Given the description of an element on the screen output the (x, y) to click on. 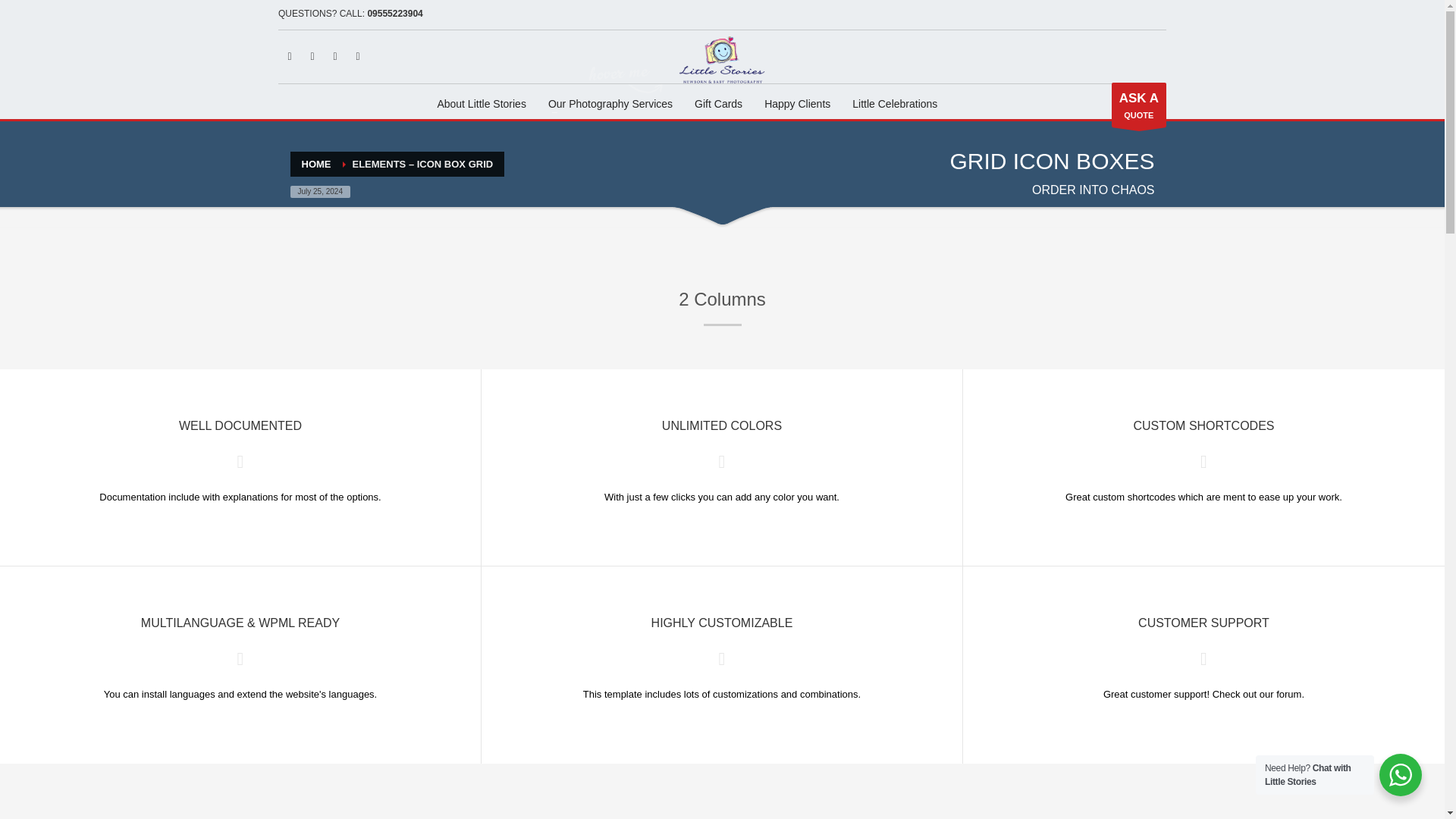
Happy Clients (797, 103)
Pinterest (334, 56)
Gift Cards (1139, 104)
HOME (718, 103)
09555223904 (316, 163)
Google (394, 13)
About Little Stories (357, 56)
Instagram (481, 103)
Facebook (312, 56)
